Given the description of an element on the screen output the (x, y) to click on. 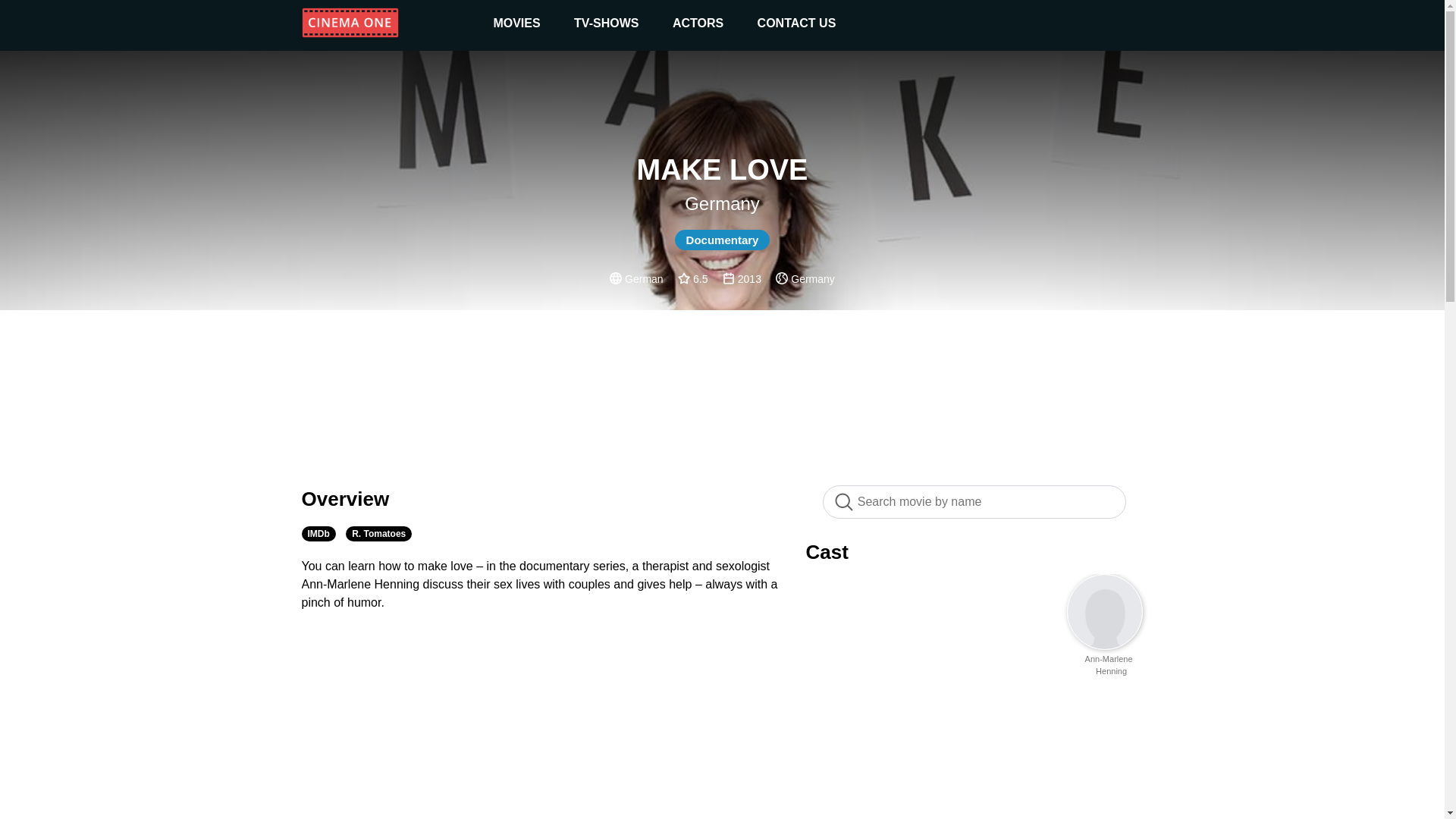
Advertisement (721, 389)
CONTACT US (796, 22)
Overview (345, 498)
Advertisement (721, 752)
ACTORS (697, 22)
R. Tomatoes (379, 533)
IMDb (318, 533)
MOVIES (516, 22)
Ann-Marlene Henning (1111, 664)
TV-SHOWS (606, 22)
Cast (826, 551)
